Given the description of an element on the screen output the (x, y) to click on. 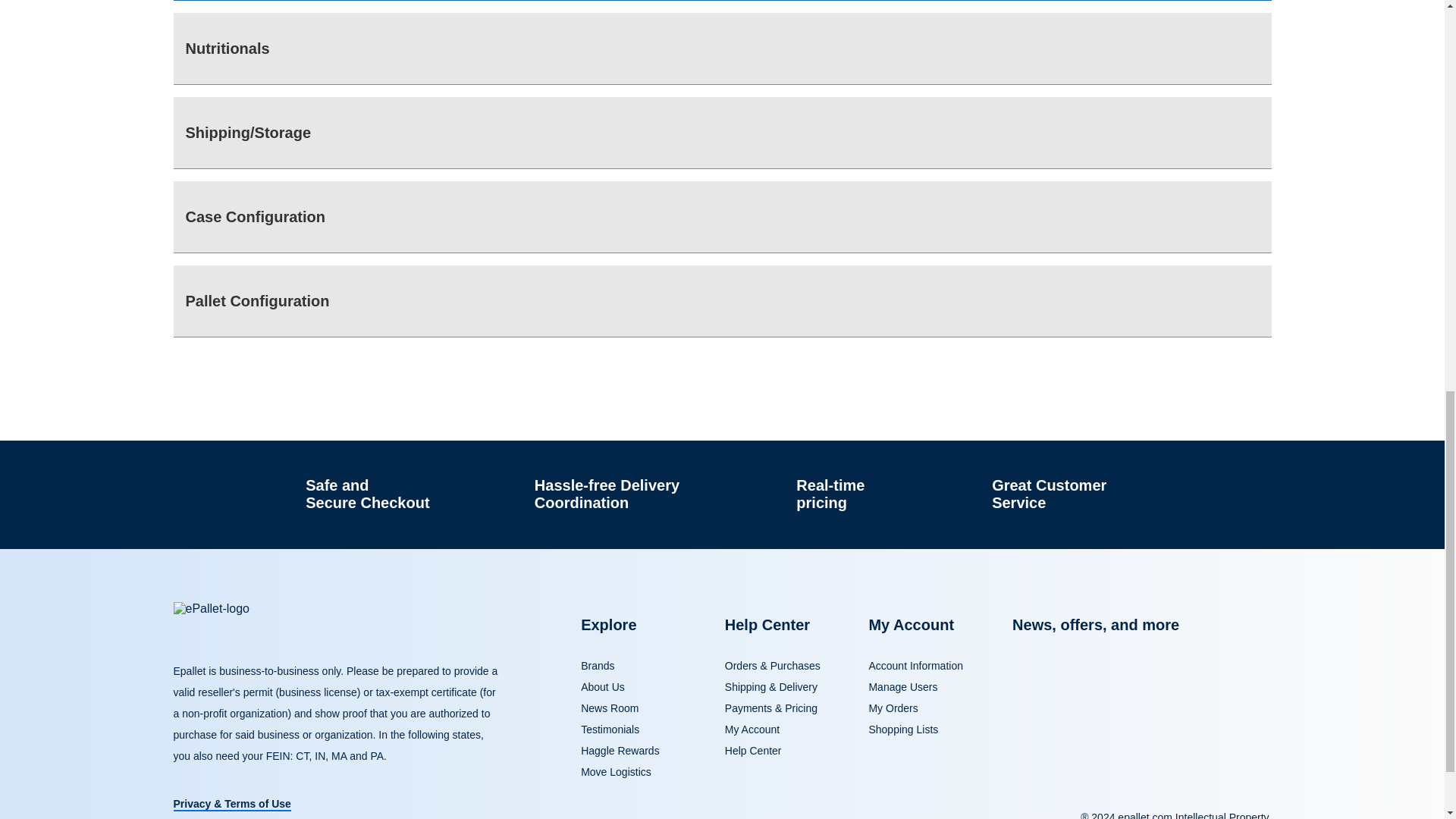
News Room (609, 707)
Move Logistics (615, 771)
About Us (602, 686)
Haggle Rewards (619, 750)
Brands (597, 665)
My Account (751, 729)
Testimonials (609, 729)
